Given the description of an element on the screen output the (x, y) to click on. 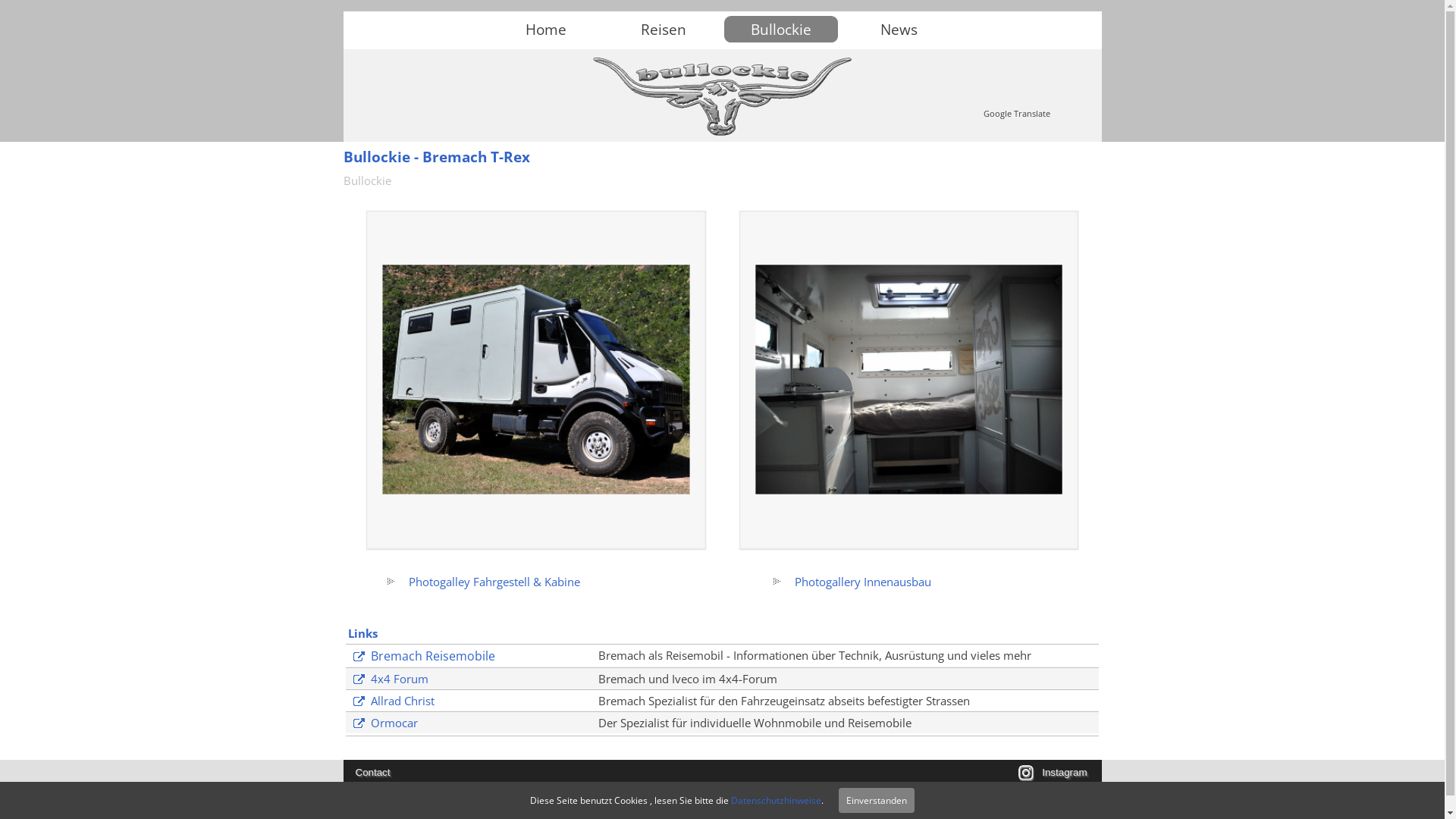
Photogallery Innenausbau Element type: text (851, 581)
Reisen Element type: text (663, 28)
4x4 Forum Element type: text (388, 678)
Ormocar Element type: text (382, 722)
Bullockie Element type: text (367, 180)
Allrad Christ Element type: text (391, 700)
Home Element type: text (545, 28)
Bremach Reisemobile Element type: text (421, 655)
Contact Element type: text (371, 772)
Instagram Element type: text (1063, 772)
Photogalley Fahrgestell & Kabine Element type: text (482, 581)
News Element type: text (898, 28)
Bullockie Element type: text (781, 28)
Datenschutzhinweise Element type: text (776, 799)
